Given the description of an element on the screen output the (x, y) to click on. 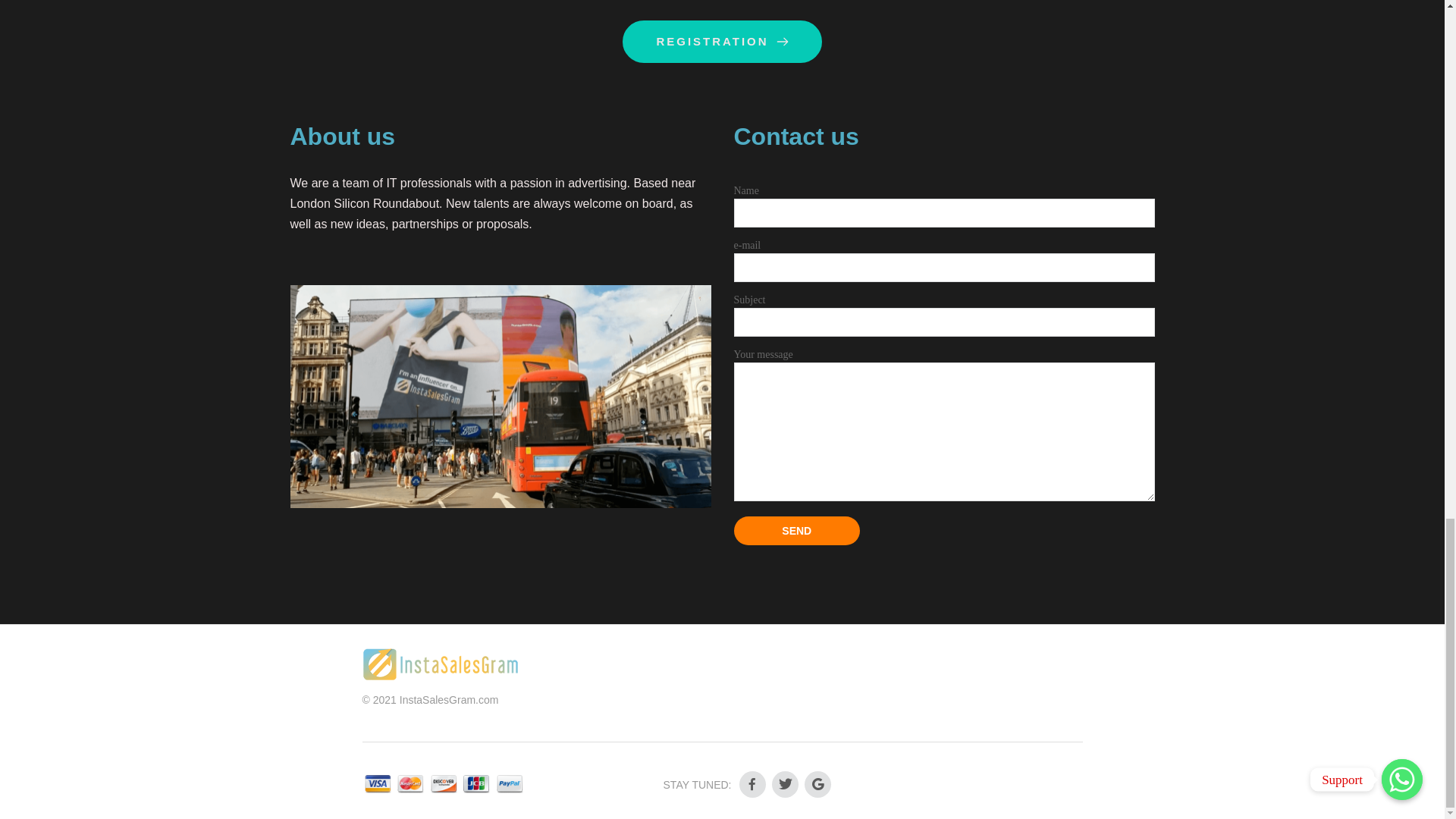
REGISTRATION (722, 41)
InstaSalesGram.com (448, 699)
SEND (796, 530)
SEND (796, 530)
